Given the description of an element on the screen output the (x, y) to click on. 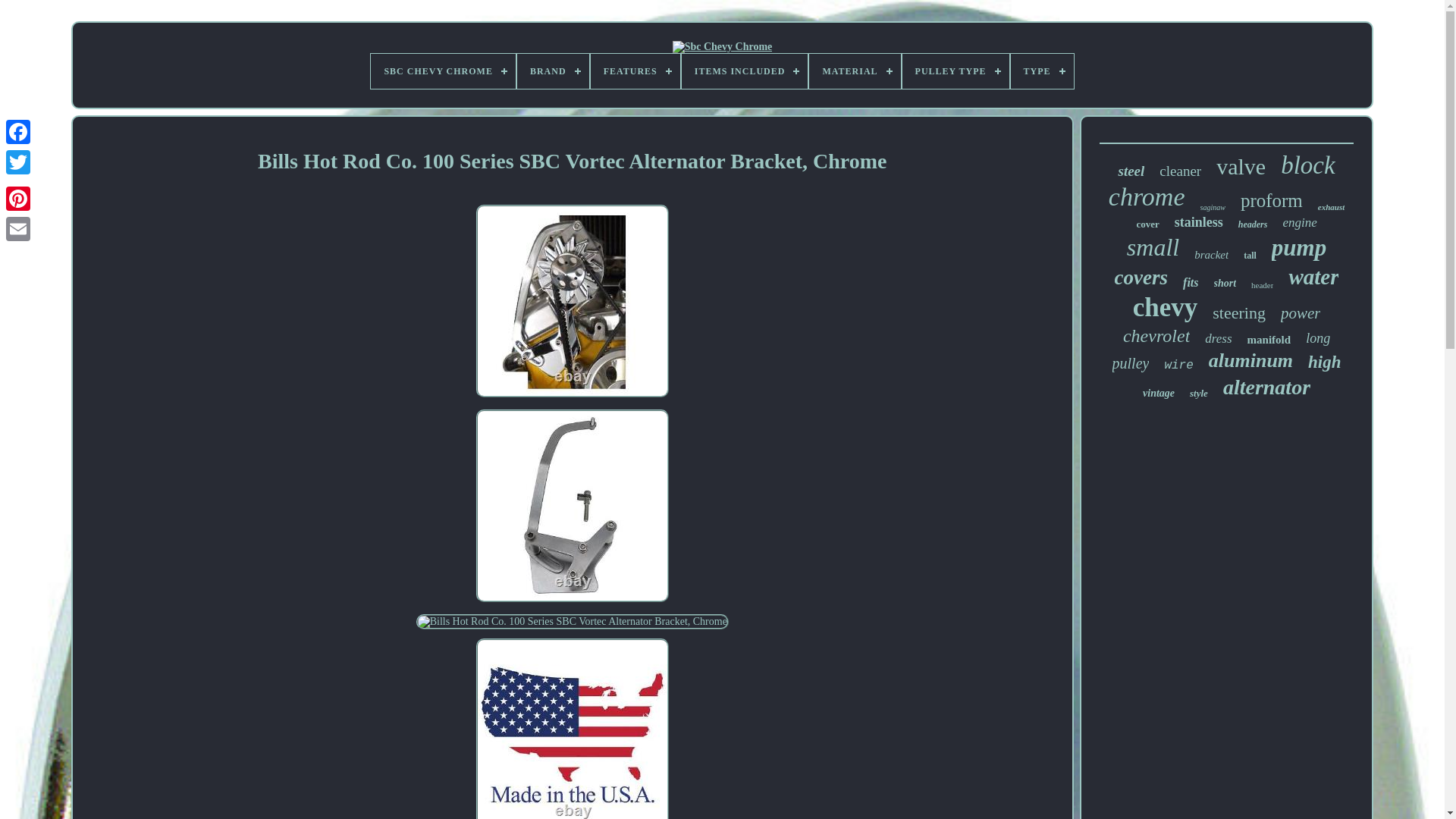
BRAND (552, 71)
SBC CHEVY CHROME (443, 71)
FEATURES (635, 71)
